Given the description of an element on the screen output the (x, y) to click on. 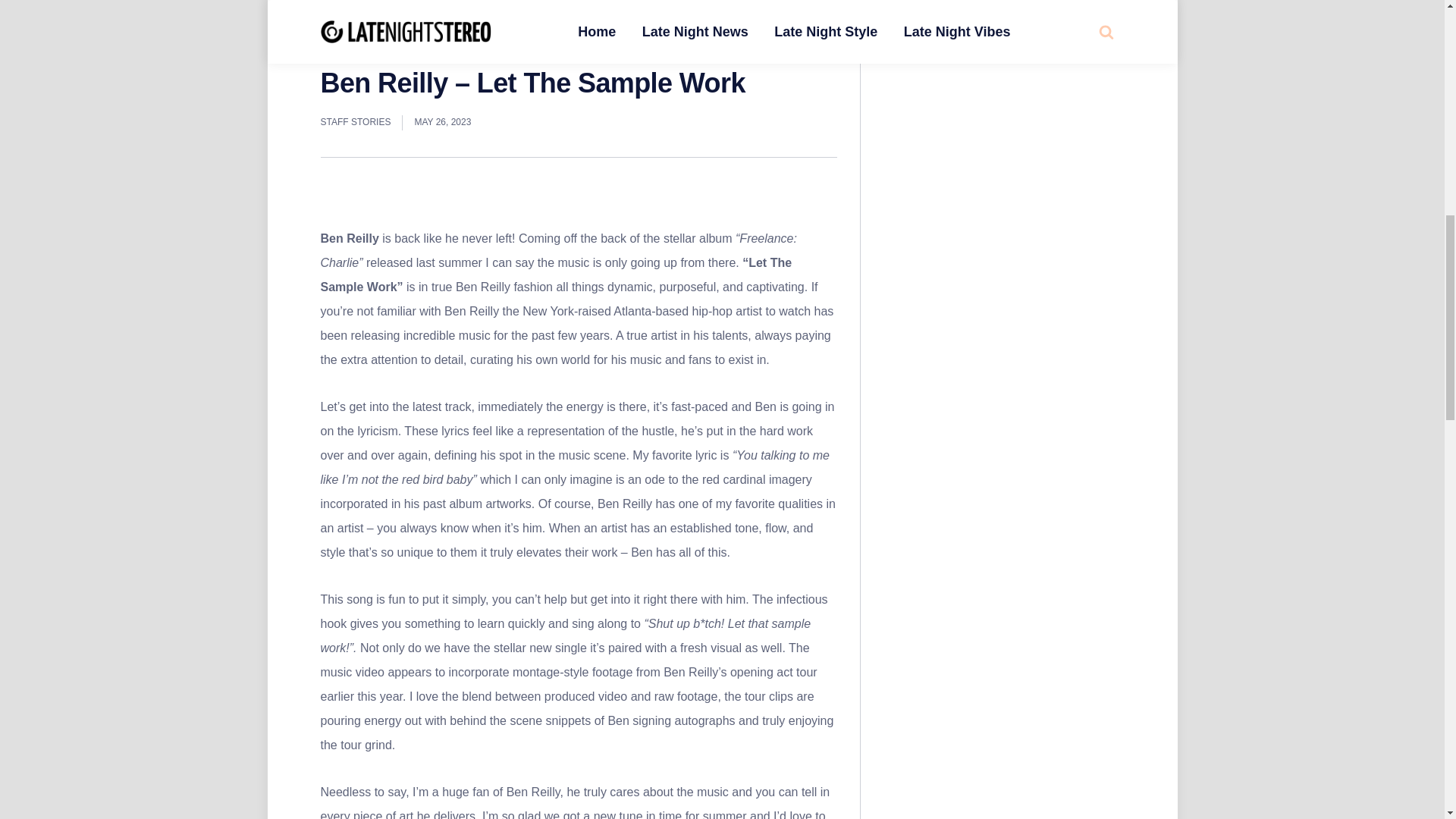
STAFF STORIES (355, 122)
Late Night Vibes (371, 12)
Home (331, 46)
Late Night Vibes (397, 46)
